Given the description of an element on the screen output the (x, y) to click on. 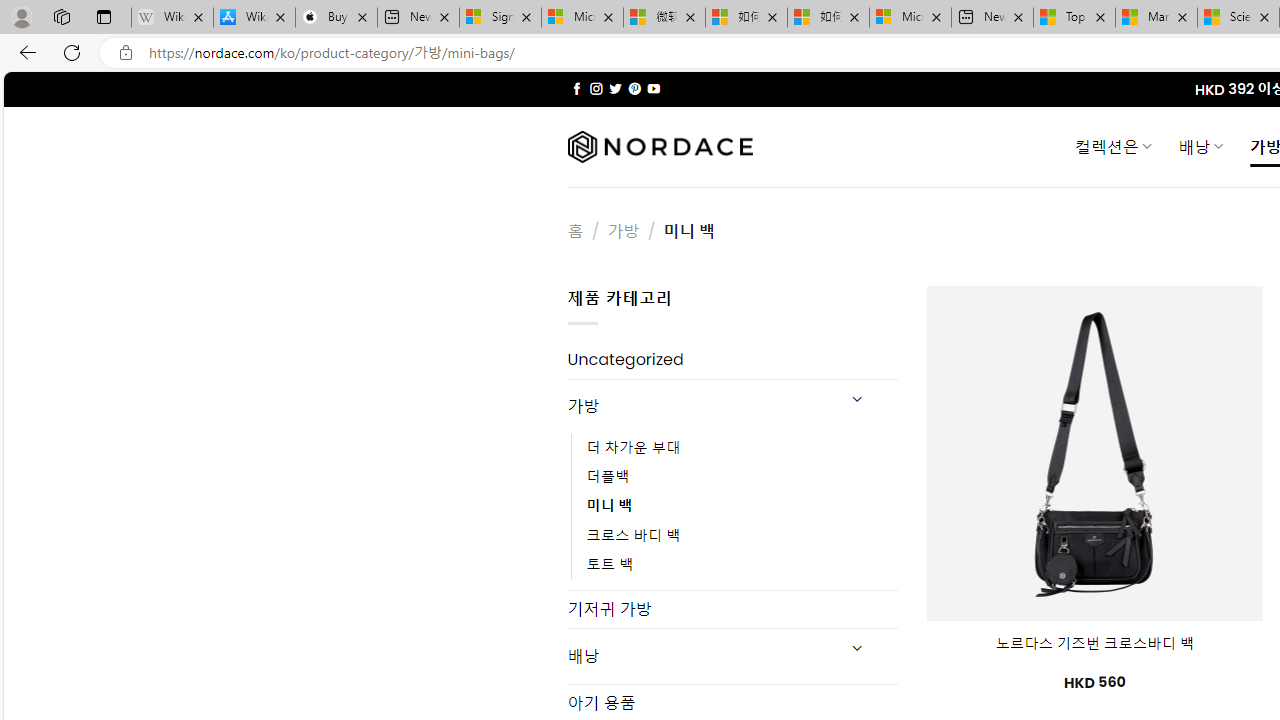
Microsoft account | Account Checkup (910, 17)
Follow on Facebook (576, 88)
